Given the description of an element on the screen output the (x, y) to click on. 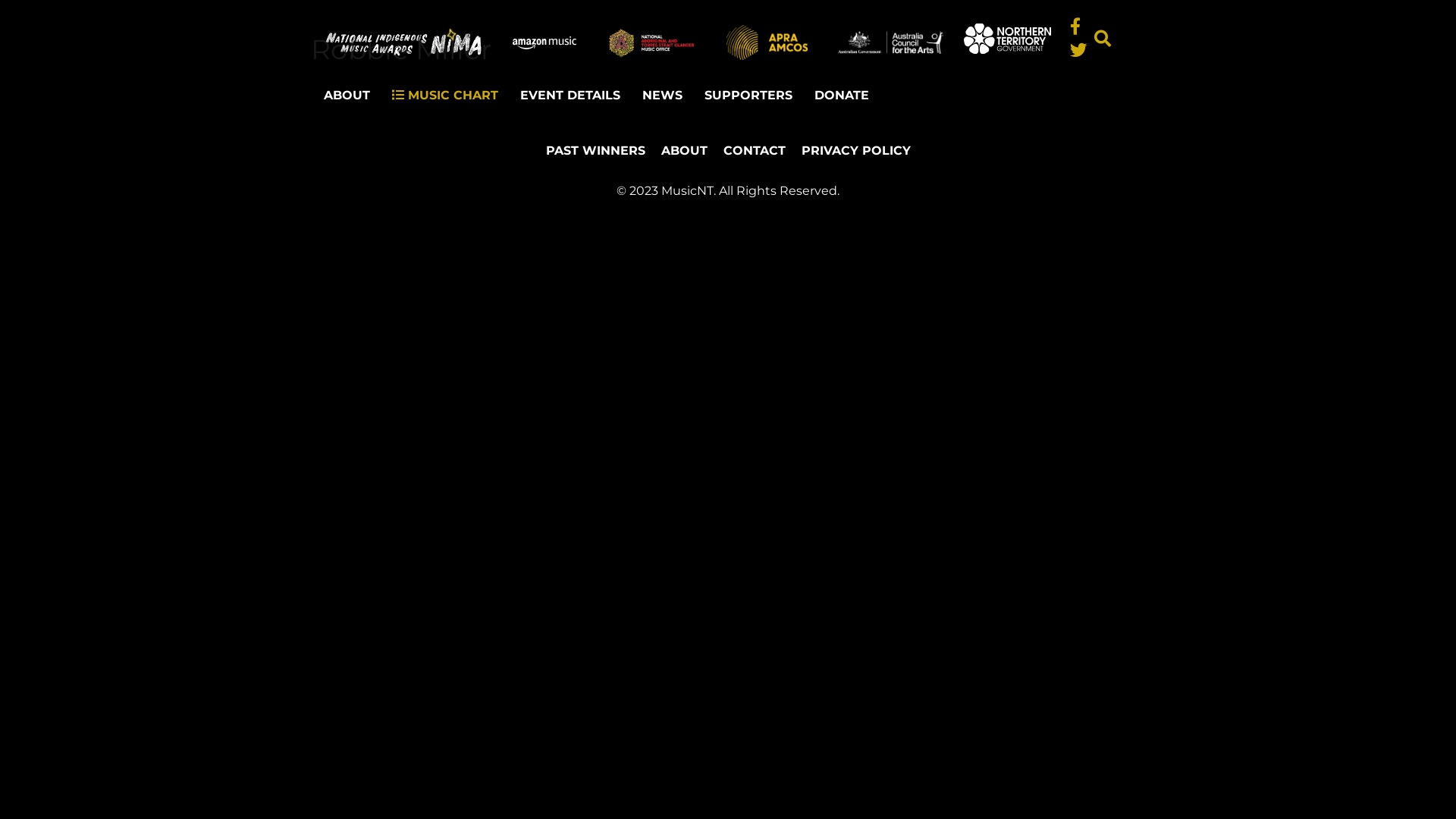
PAST WINNERS Element type: text (595, 154)
ABOUT Element type: text (684, 154)
ABOUT Element type: text (346, 95)
CONTACT Element type: text (754, 154)
APRA AMCOS Logo Element type: hover (766, 42)
SUPPORTERS Element type: text (748, 95)
PRIVACY POLICY Element type: text (855, 154)
MUSIC CHART Element type: text (444, 95)
NIMA 2021 Text White Logo Combo Min Element type: hover (404, 42)
DONATE Element type: text (841, 95)
Amazon Music Element type: hover (544, 42)
NEWS Element type: text (662, 95)
EVENT DETAILS Element type: text (569, 95)
NAATSIMO Element type: hover (651, 42)
Australia Arts Council Element type: hover (890, 42)
